Given the description of an element on the screen output the (x, y) to click on. 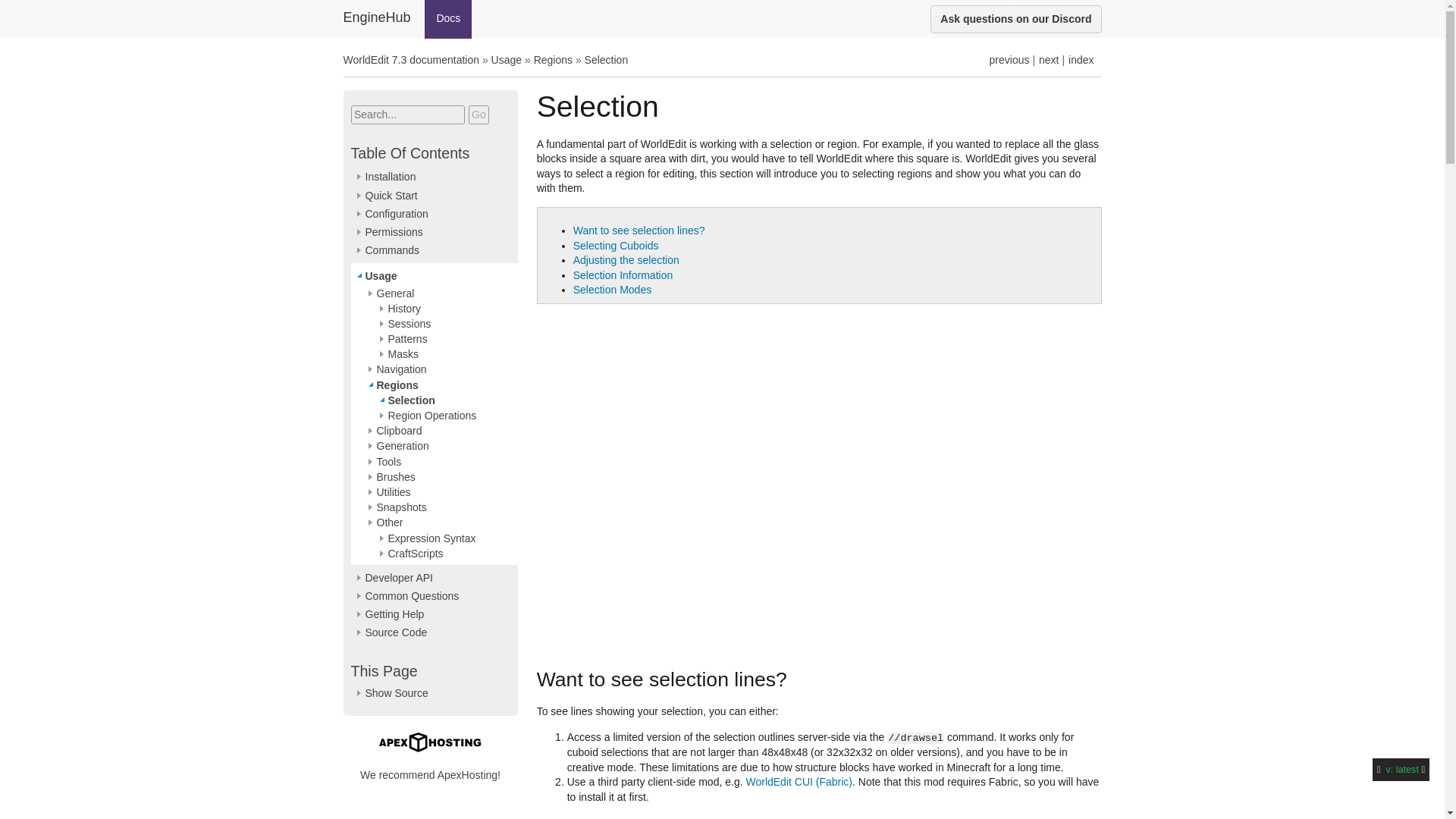
Want to see selection lines? (638, 230)
next (1048, 60)
Adjusting the selection (626, 259)
Regions (1009, 60)
previous (1009, 60)
WorldEdit 7.3 documentation (410, 60)
Selecting Cuboids (616, 245)
Usage (506, 60)
General Index (1080, 60)
Docs (448, 19)
Selection (606, 60)
Go (478, 114)
Region Operations (1048, 60)
EngineHub (376, 17)
Ask questions on our Discord (1015, 18)
